Given the description of an element on the screen output the (x, y) to click on. 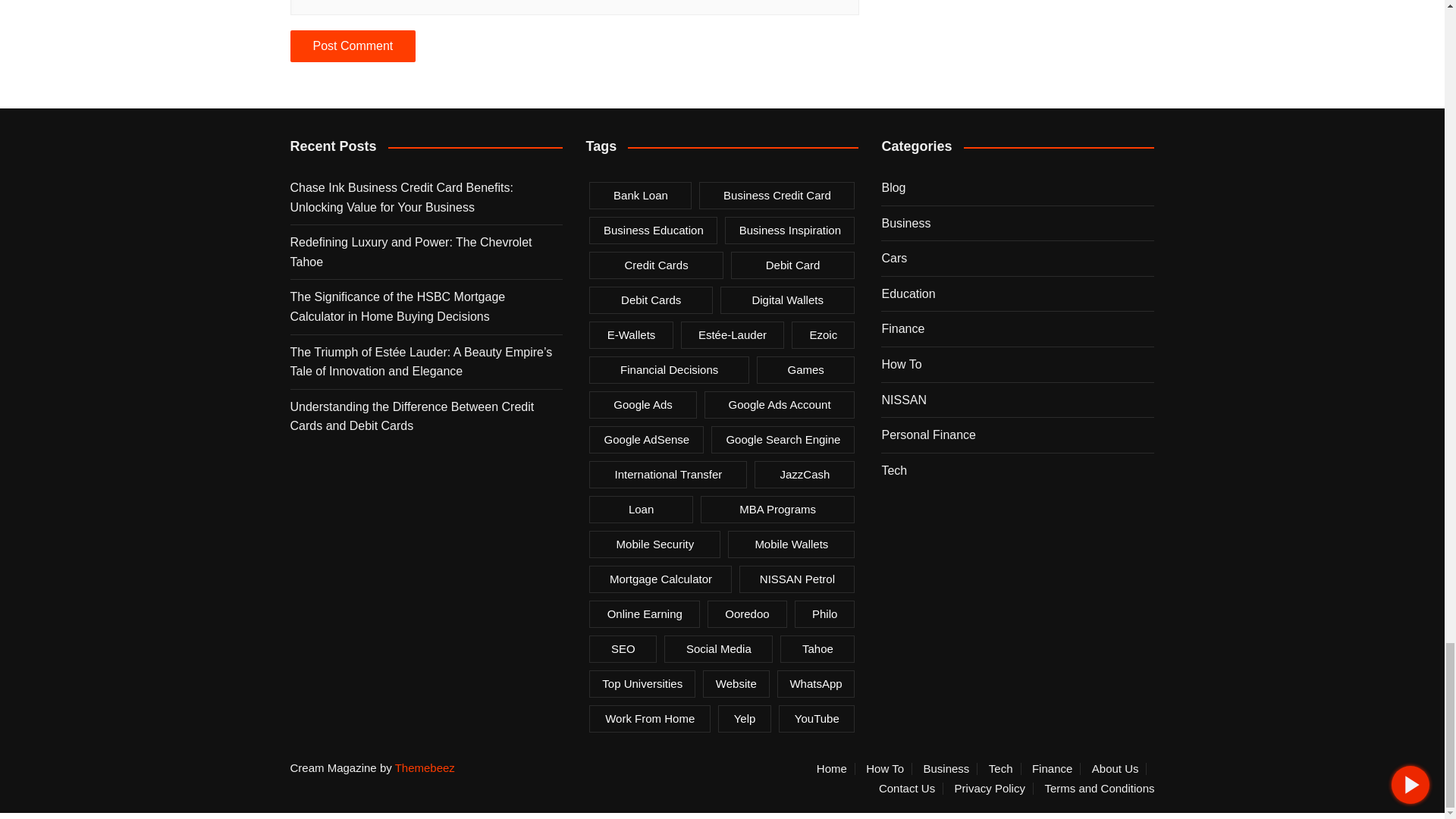
Post Comment (351, 46)
